Given the description of an element on the screen output the (x, y) to click on. 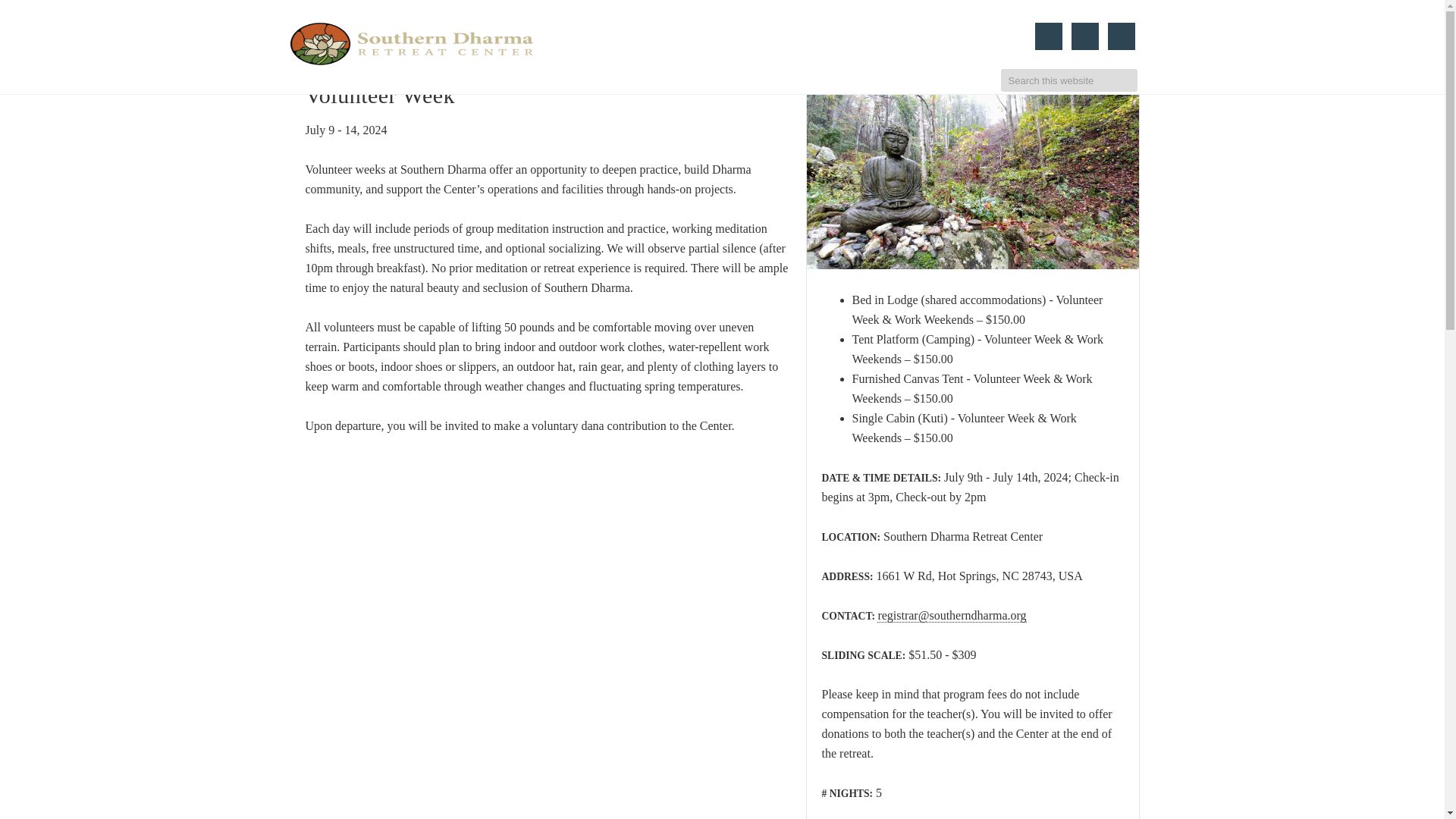
Stay Connected (771, 18)
About (320, 18)
SOUTHERN DHARMA RETREAT CENTER (410, 43)
